Given the description of an element on the screen output the (x, y) to click on. 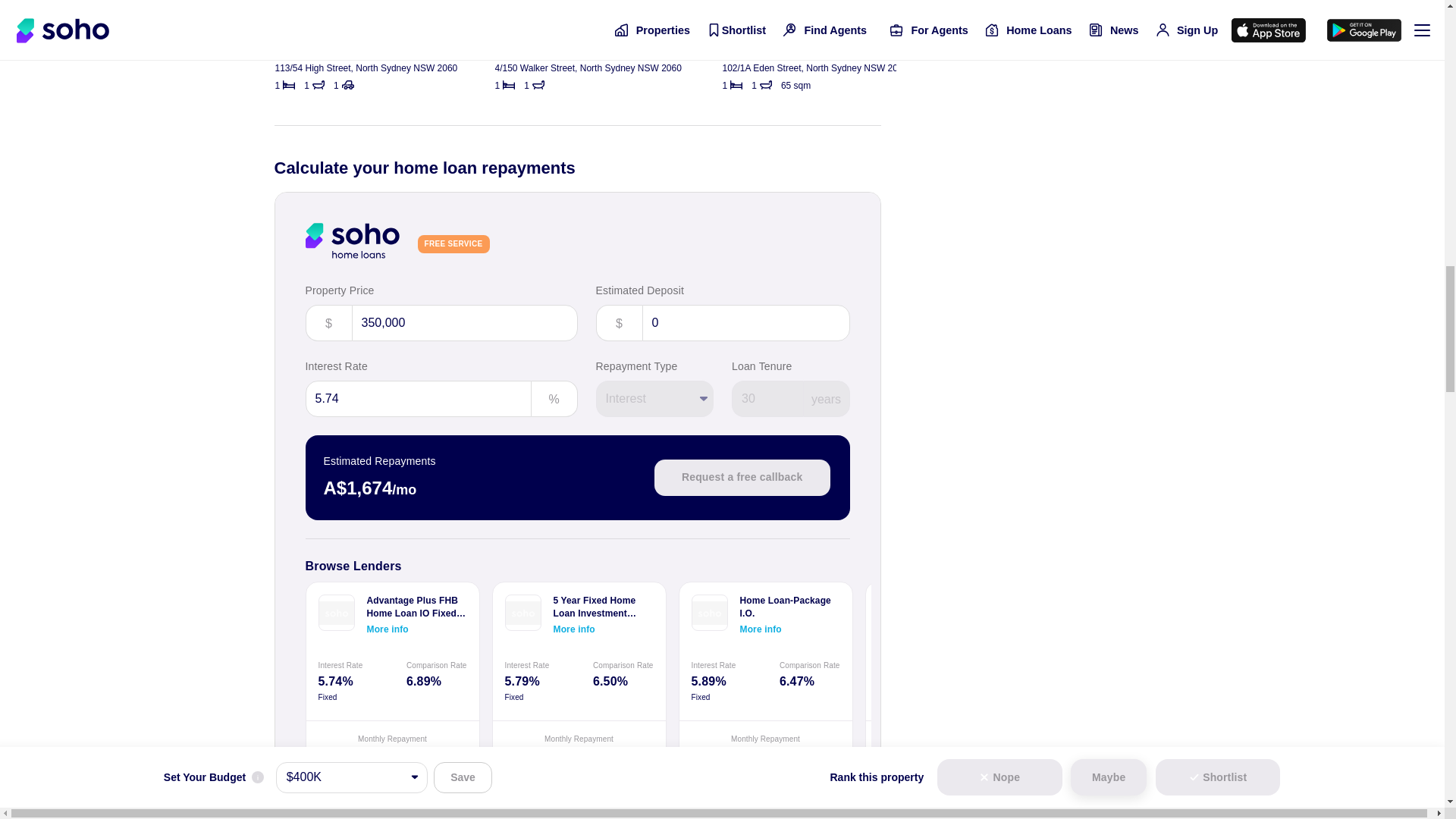
350,000 (465, 322)
5.74 (417, 398)
0 (745, 322)
